Given the description of an element on the screen output the (x, y) to click on. 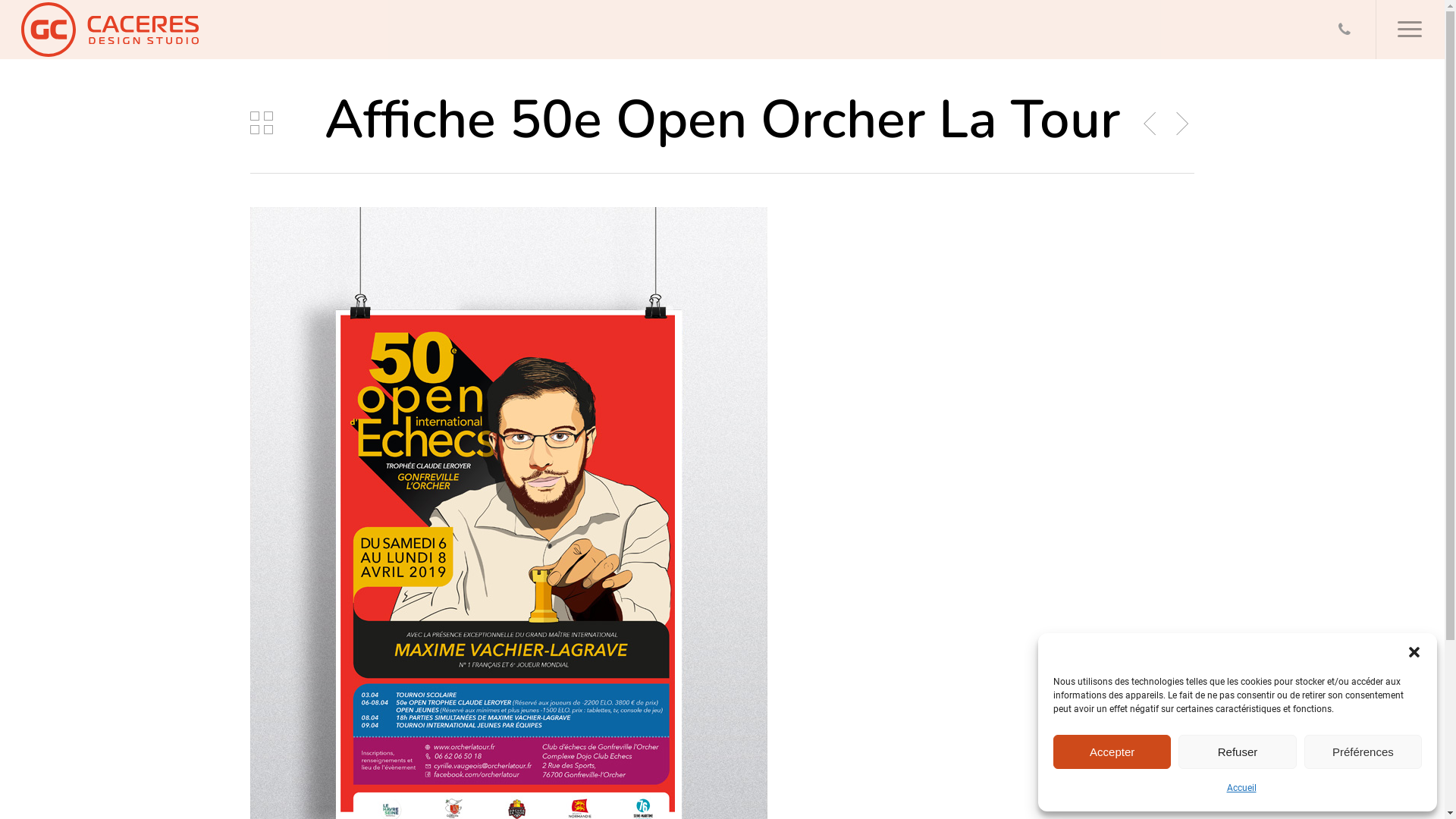
Menu Element type: text (1409, 29)
Back to all projects Element type: hover (261, 122)
Refuser Element type: text (1236, 751)
phone Element type: text (1344, 29)
Accueil Element type: text (1241, 788)
Accepter Element type: text (1111, 751)
